Given the description of an element on the screen output the (x, y) to click on. 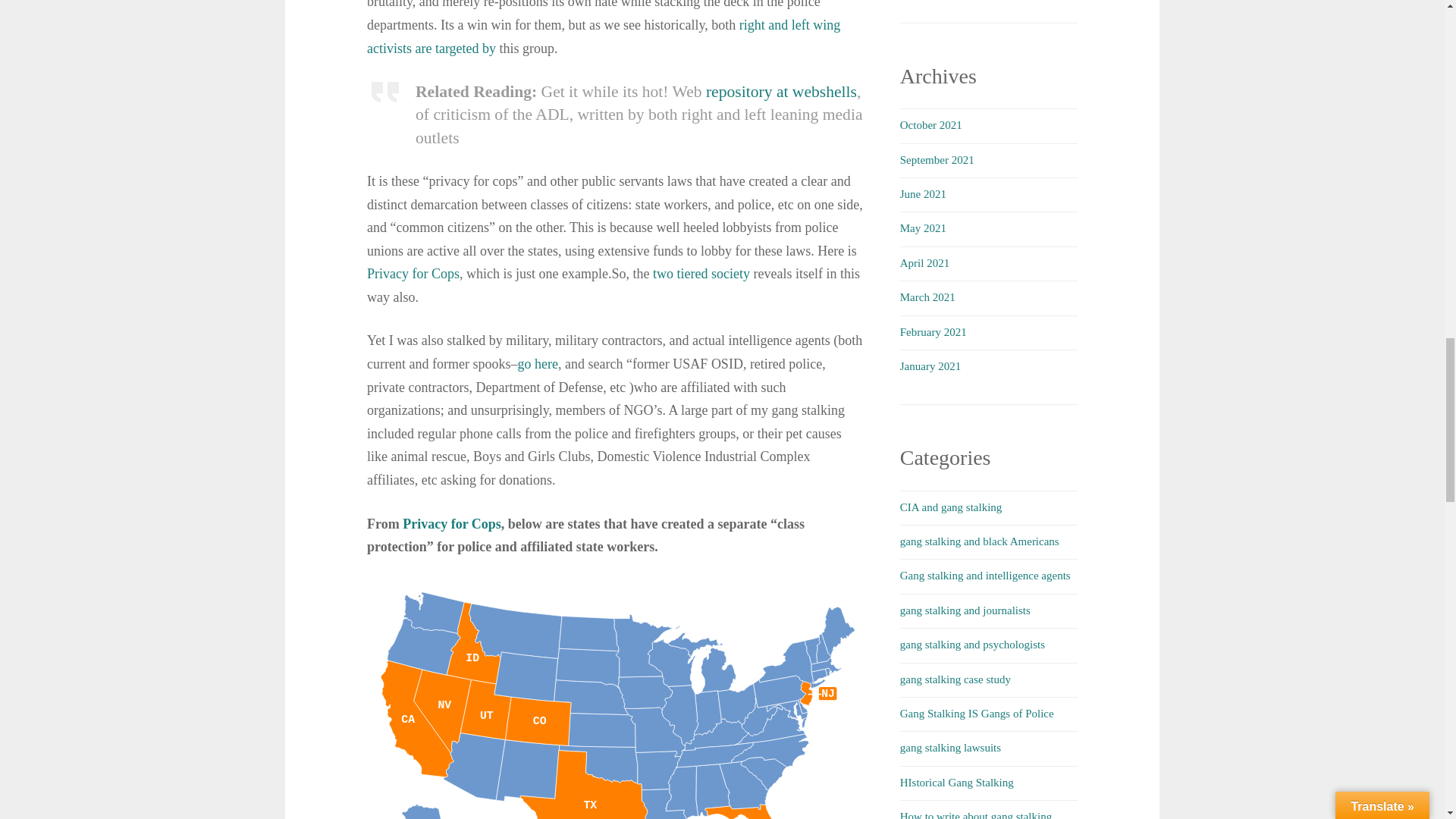
Privacy for Cops (413, 273)
repository at webshells (781, 91)
right and left wing activists are targeted by (603, 36)
Privacy for Cops (451, 523)
two tiered society (700, 273)
go here (536, 363)
